Given the description of an element on the screen output the (x, y) to click on. 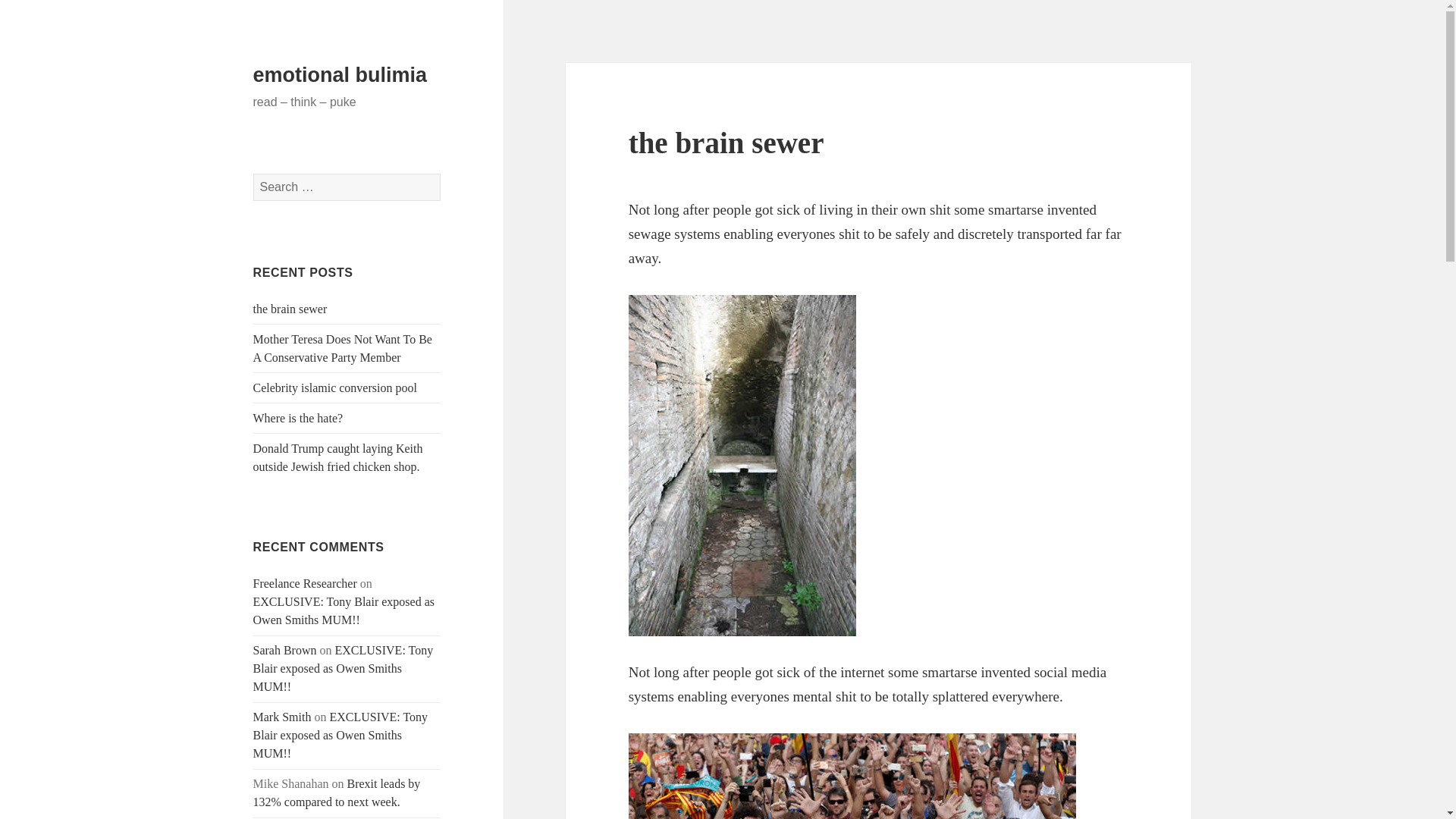
Celebrity islamic conversion pool (334, 387)
emotional bulimia (340, 74)
Mark Smith (282, 716)
EXCLUSIVE: Tony Blair exposed as Owen Smiths MUM!! (343, 610)
the brain sewer (290, 308)
EXCLUSIVE: Tony Blair exposed as Owen Smiths MUM!! (343, 667)
